Given the description of an element on the screen output the (x, y) to click on. 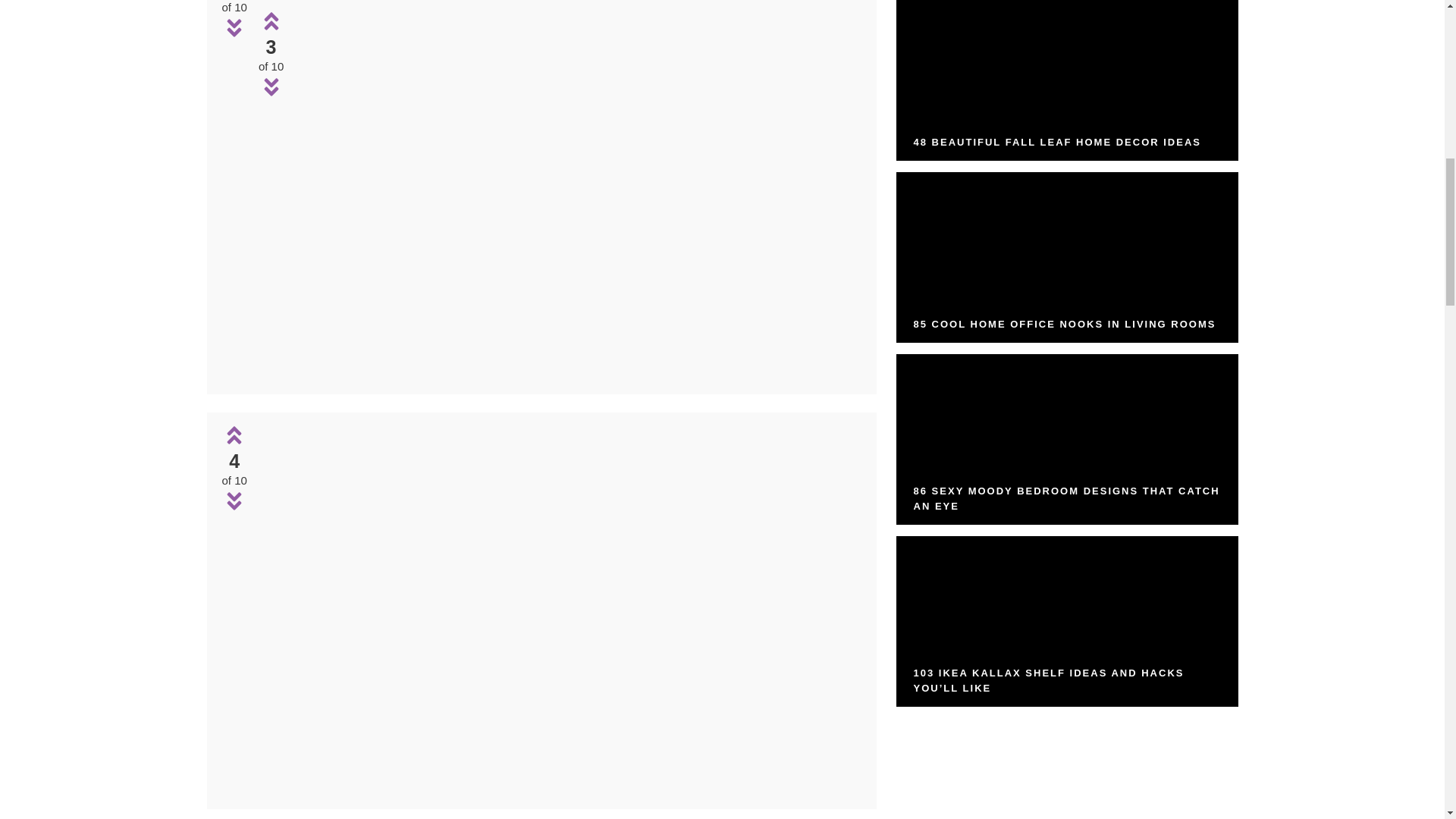
Modern Stools Made Using 75 Control Process (559, 788)
Modern Stools Made Using 75 Control Process (578, 373)
Modern Stools Made Using 75 Control Process (578, 193)
Modern Stools Made Using 75 Control Process (559, 608)
